Given the description of an element on the screen output the (x, y) to click on. 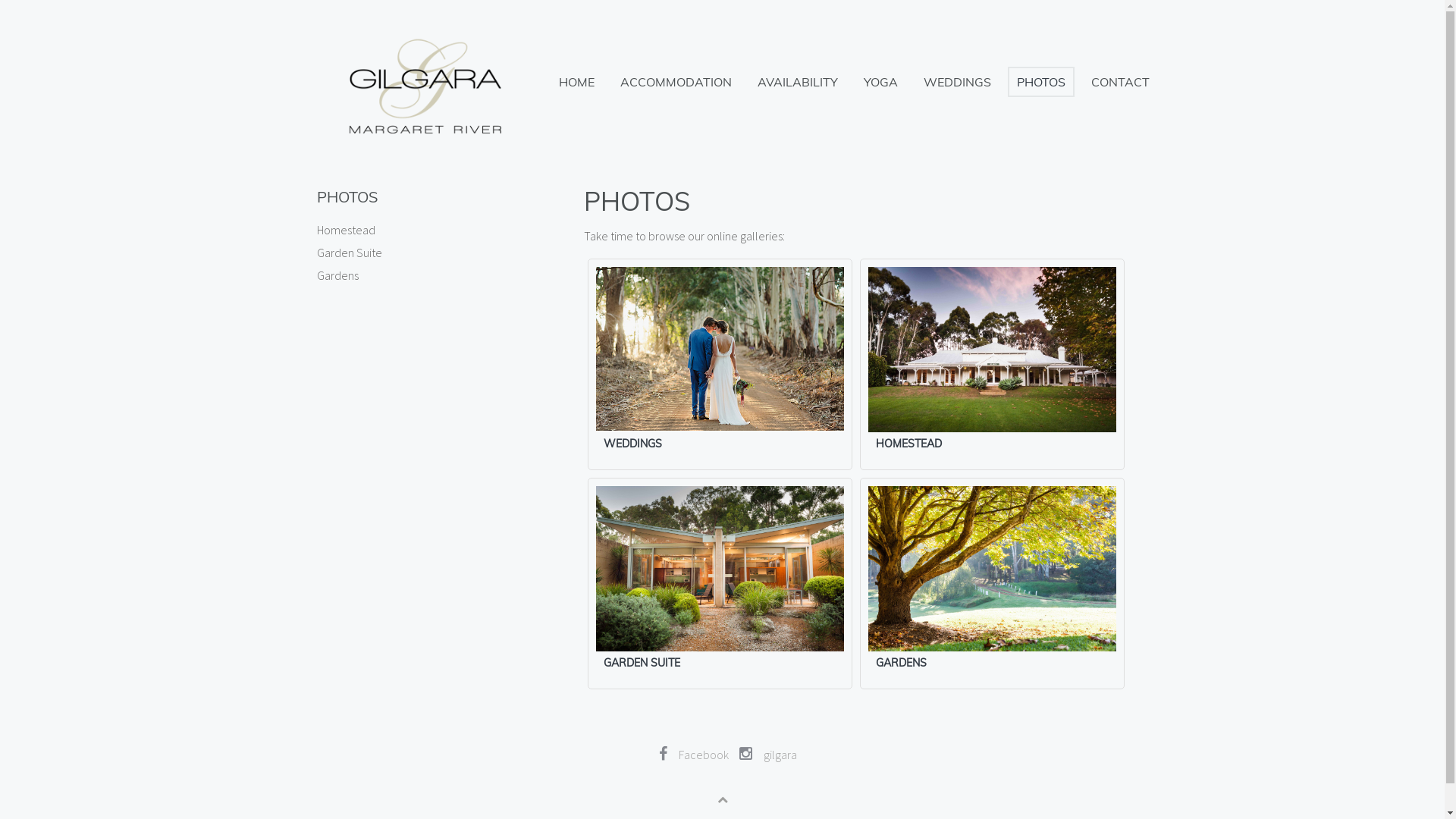
GARDEN SUITE Element type: text (641, 662)
ACCOMMODATION Element type: text (675, 81)
CONTACT Element type: text (1119, 81)
WEDDINGS Element type: text (632, 443)
AVAILABILITY Element type: text (796, 81)
GARDENS Element type: text (900, 662)
Garden Suite Element type: text (410, 252)
HOME Element type: text (575, 81)
WEDDINGS Element type: text (957, 81)
HOMESTEAD Element type: text (908, 443)
YOGA Element type: text (879, 81)
Homestead Element type: text (410, 229)
Gardens Element type: text (410, 274)
PHOTOS Element type: text (1040, 81)
